Given the description of an element on the screen output the (x, y) to click on. 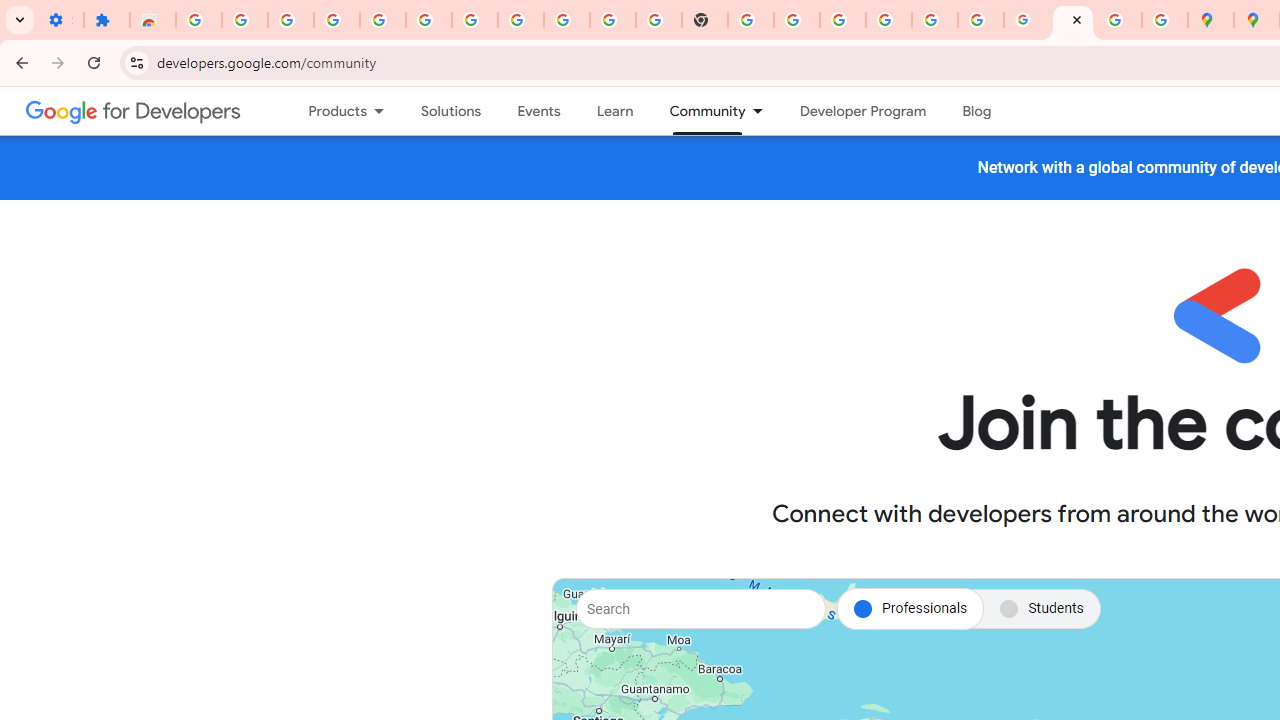
Google for Developers (133, 110)
Dropdown menu for Products (385, 111)
YouTube (613, 20)
Sign in - Google Accounts (889, 20)
Google Account (567, 20)
Developer Program (862, 111)
New Tab (705, 20)
Reviews: Helix Fruit Jump Arcade Game (153, 20)
Forward (57, 62)
Search tabs (20, 20)
Close (1076, 19)
